Given the description of an element on the screen output the (x, y) to click on. 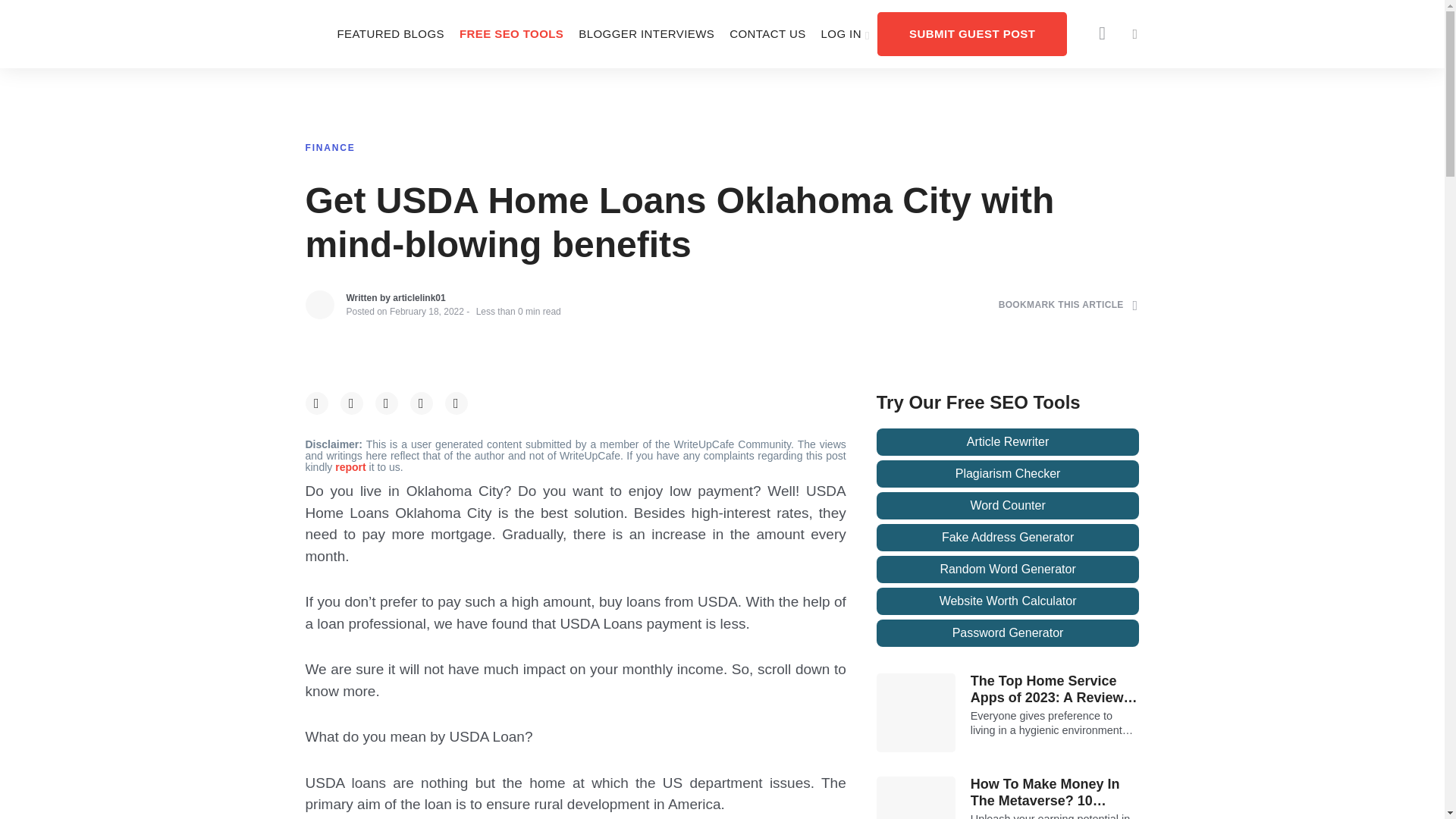
Random Word Generator (1008, 569)
FEATURED BLOGS (390, 33)
FINANCE (329, 147)
Article Rewriter (1008, 441)
articlelink01 (419, 297)
BLOGGER INTERVIEWS (646, 33)
February 18, 2022 (427, 311)
FEATURED BLOGS (390, 33)
